Given the description of an element on the screen output the (x, y) to click on. 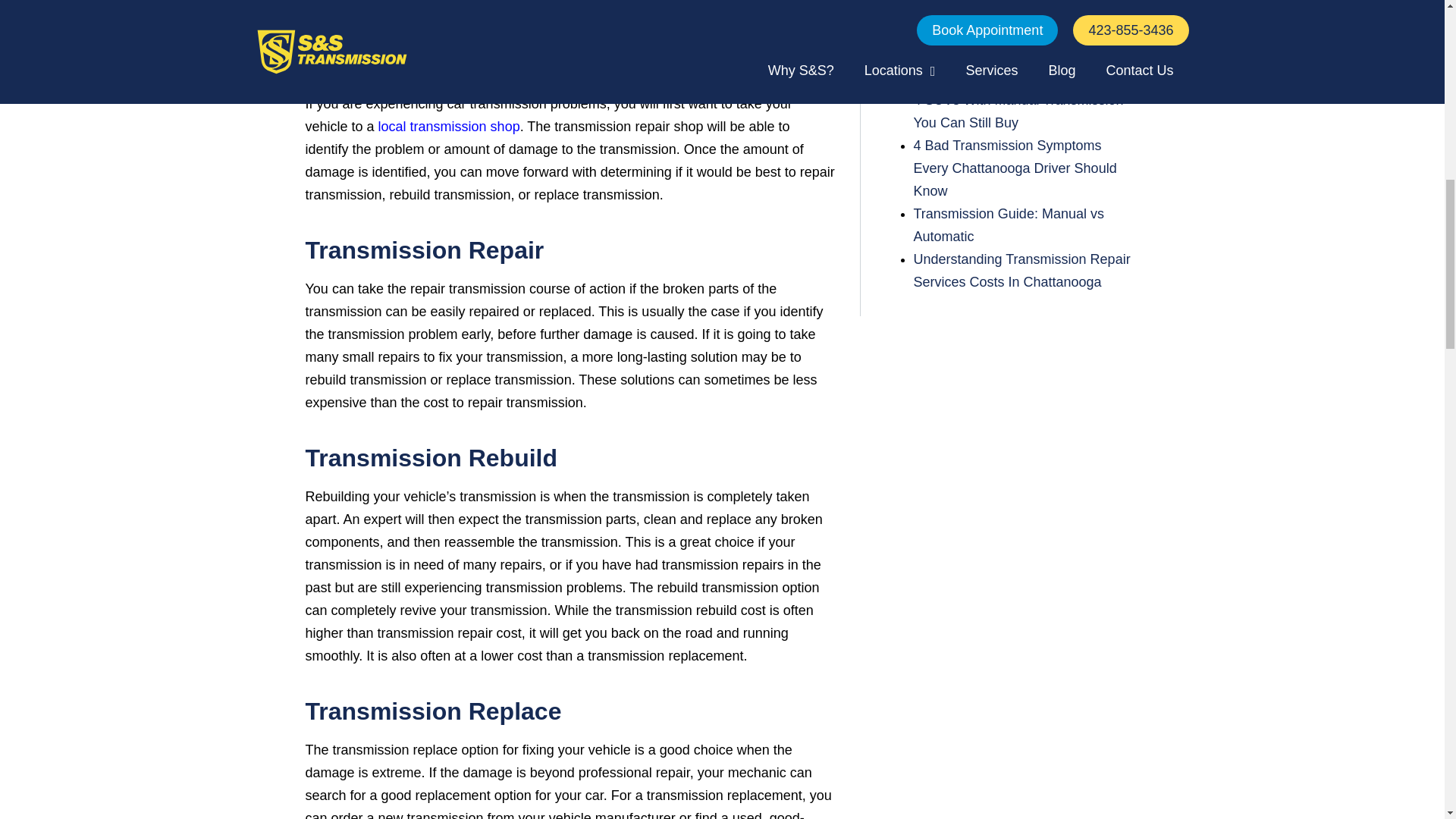
local transmission shop (448, 126)
